Given the description of an element on the screen output the (x, y) to click on. 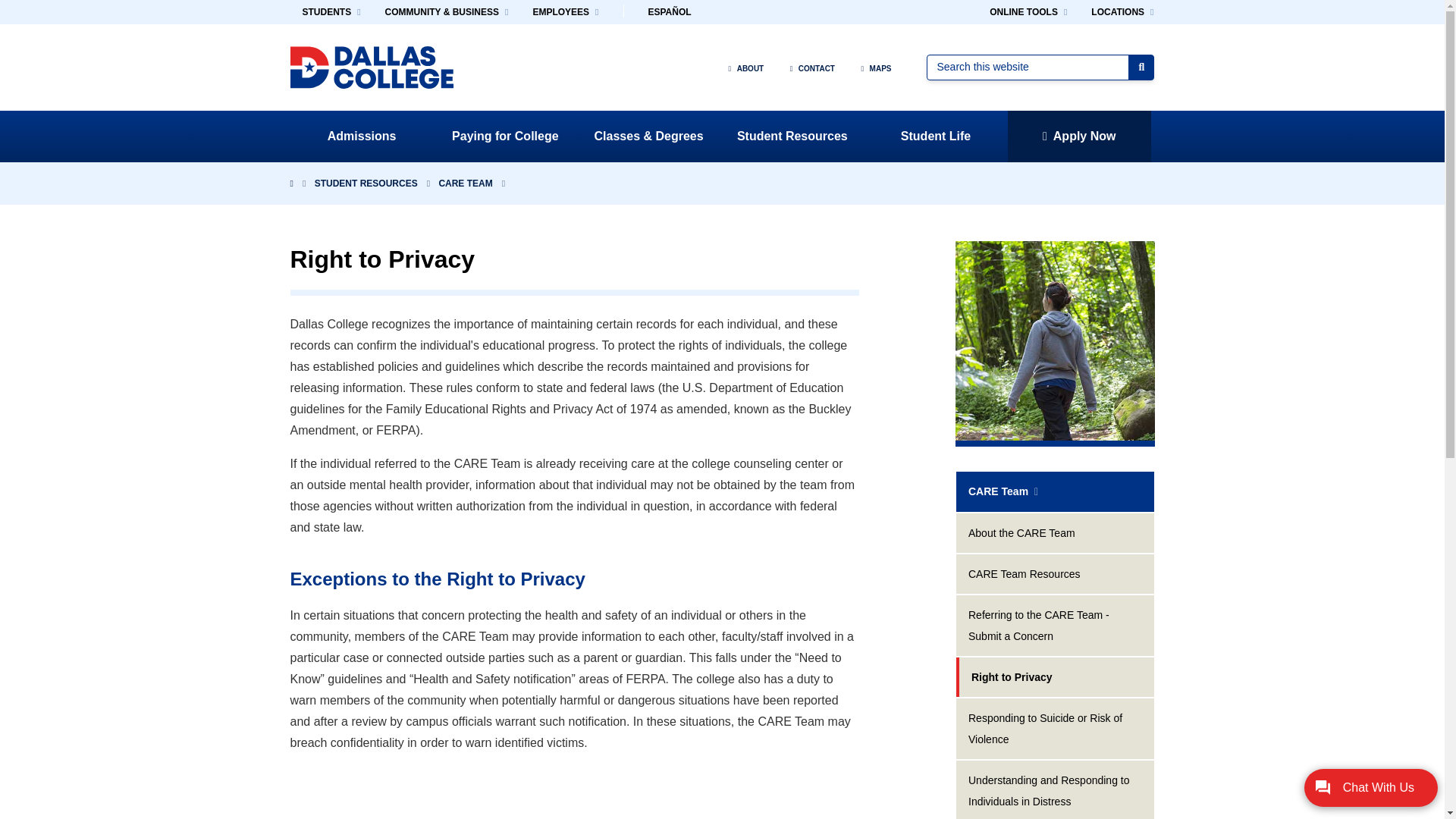
STUDENTS (330, 12)
EMPLOYEES (564, 12)
LOCATIONS (1122, 12)
ONLINE TOOLS (1027, 12)
